Given the description of an element on the screen output the (x, y) to click on. 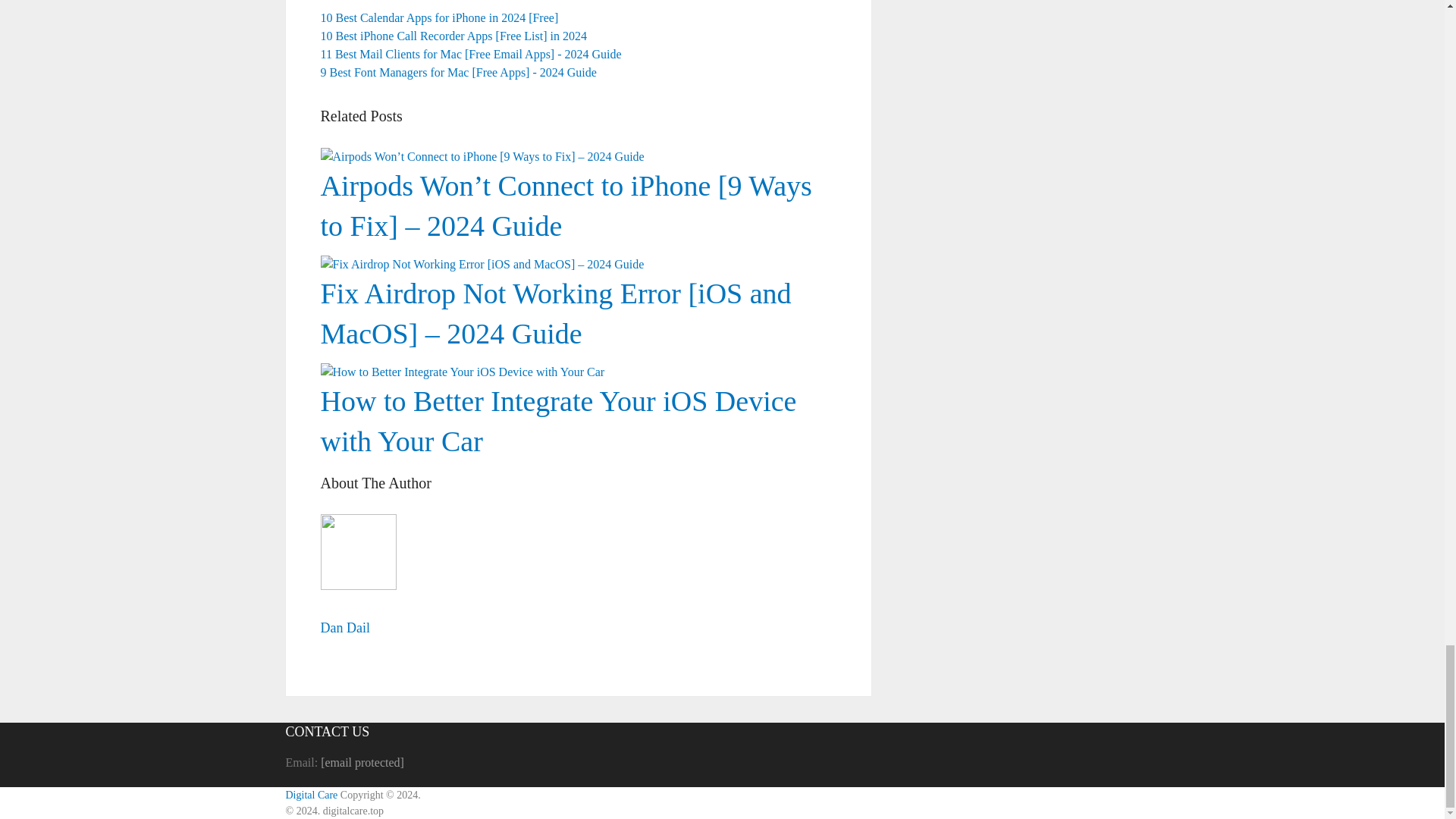
How to Better Integrate Your iOS Device with Your Car (462, 372)
How to Better Integrate Your iOS Device with Your Car (558, 420)
How to Better Integrate Your iOS Device with Your Car (558, 420)
 Tech Help, News and Reviews 2024 (311, 794)
Dan Dail (344, 627)
How to Better Integrate Your iOS Device with Your Car (577, 327)
